Given the description of an element on the screen output the (x, y) to click on. 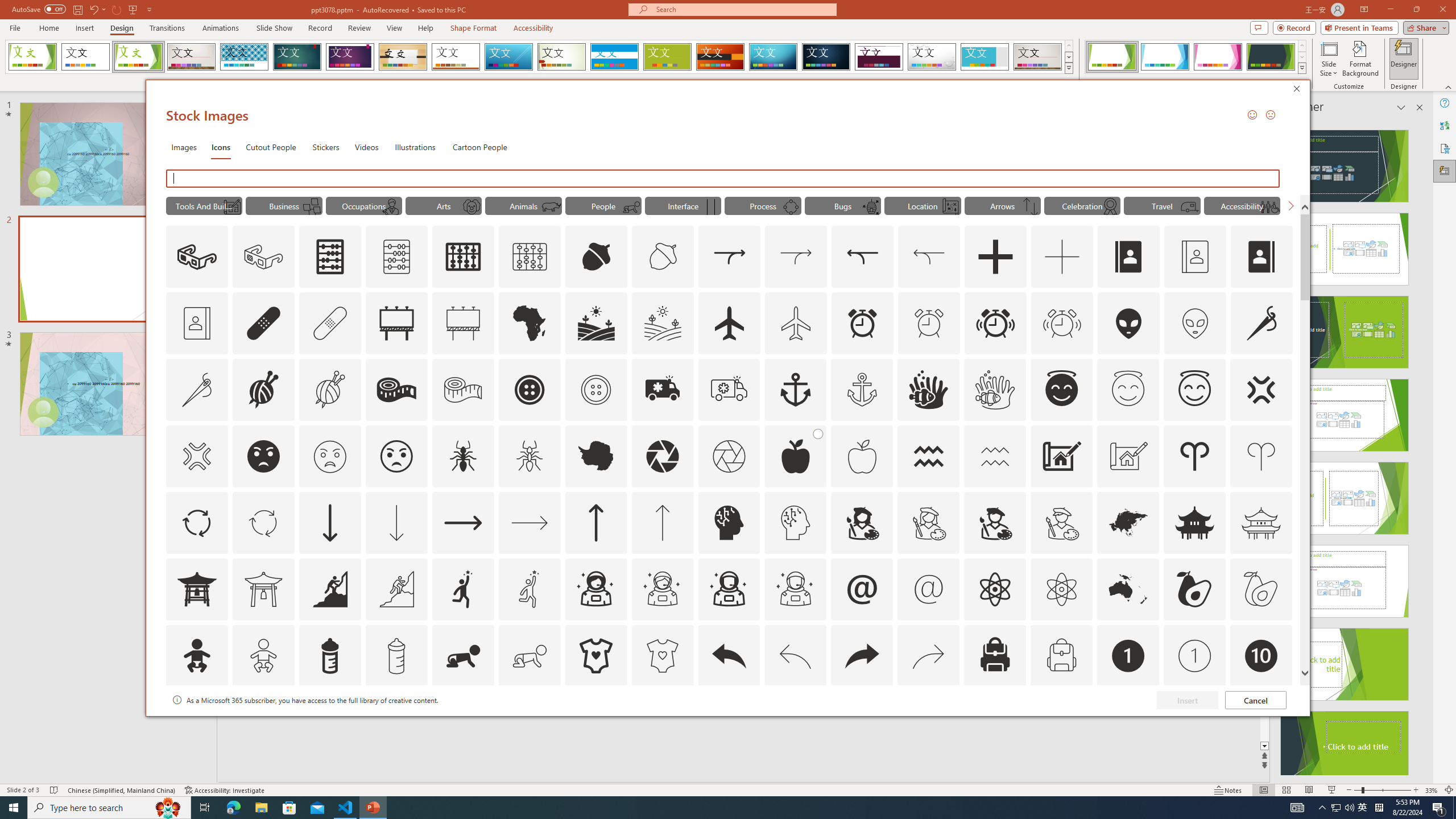
AutomationID: Icons_Clown_M (471, 206)
"Celebration" Icons. (1082, 205)
Damask (826, 56)
AutomationID: Icons_Badge2_M (329, 721)
AutomationID: Icons_Ant_M (529, 455)
AutomationID: Icons_AlterationsTailoring1 (263, 389)
Basis (667, 56)
AutomationID: Icons_Avocado_M (1260, 588)
AutomationID: Icons_AddressBook_LTR (1128, 256)
AutomationID: Icons_TreasureMap_M (950, 206)
"Occupations" Icons. (363, 205)
